Given the description of an element on the screen output the (x, y) to click on. 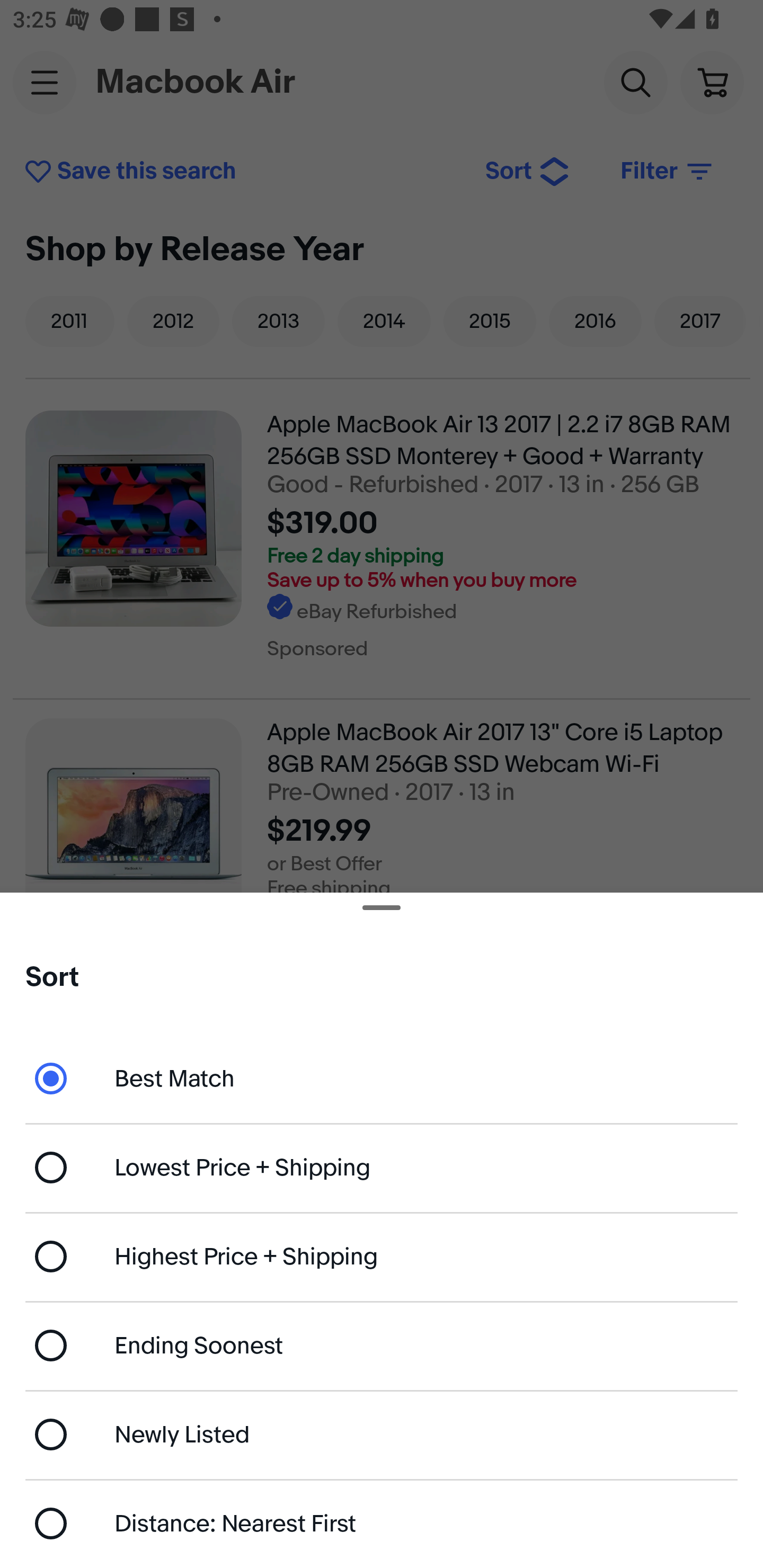
Best Match - currently selected Best Match (381, 1077)
Lowest Price + Shipping (381, 1167)
Highest Price + Shipping (381, 1256)
Ending Soonest (381, 1345)
Newly Listed (381, 1433)
Distance: Nearest First (381, 1523)
